Given the description of an element on the screen output the (x, y) to click on. 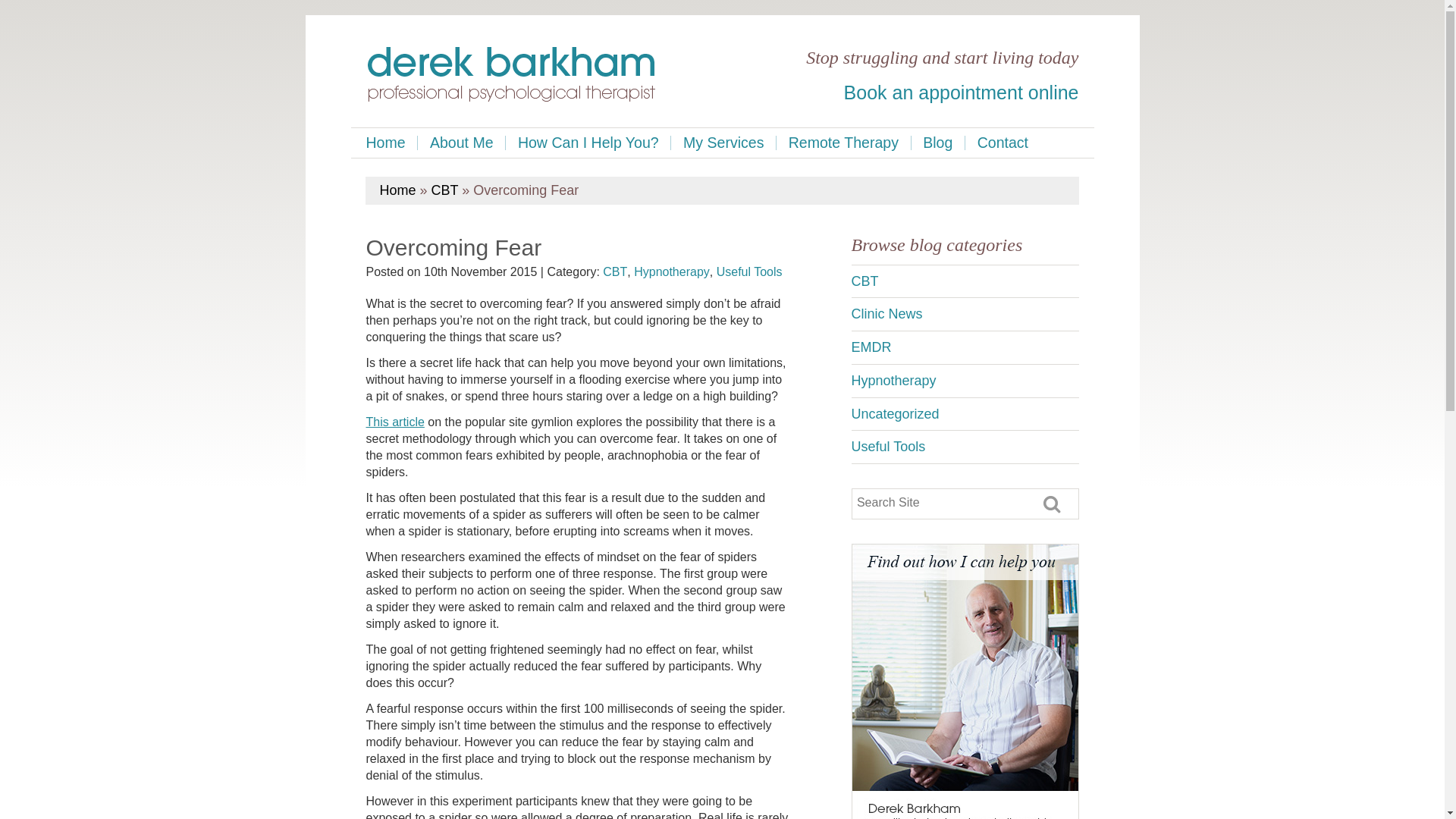
Book an appointment online (961, 92)
This article (394, 421)
Useful Tools (749, 271)
Blog (937, 142)
How Can I Help You? (587, 142)
My Services (723, 142)
Hypnotherapy (671, 271)
EMDR (964, 347)
Return to homepage (511, 75)
Search (1052, 502)
CBT (614, 271)
Home (396, 190)
Contact (1003, 142)
Clinic News (964, 314)
CBT (444, 190)
